Given the description of an element on the screen output the (x, y) to click on. 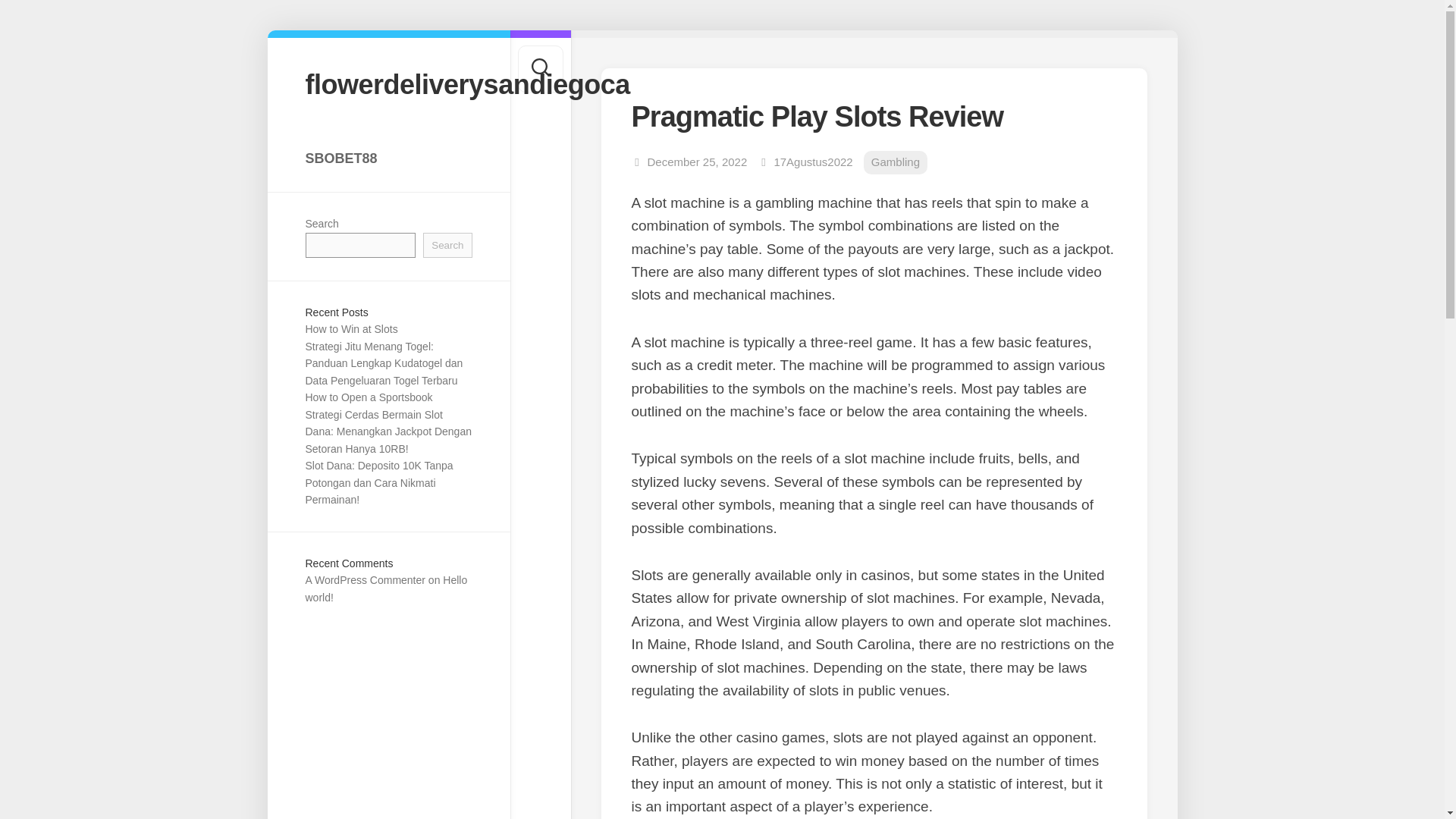
Posts by 17Agustus2022 (812, 161)
Hello world! (385, 588)
Gambling (895, 162)
SBOBET88 (387, 158)
flowerdeliverysandiegoca (387, 83)
How to Open a Sportsbook (368, 397)
17Agustus2022 (812, 161)
Search (447, 244)
